Given the description of an element on the screen output the (x, y) to click on. 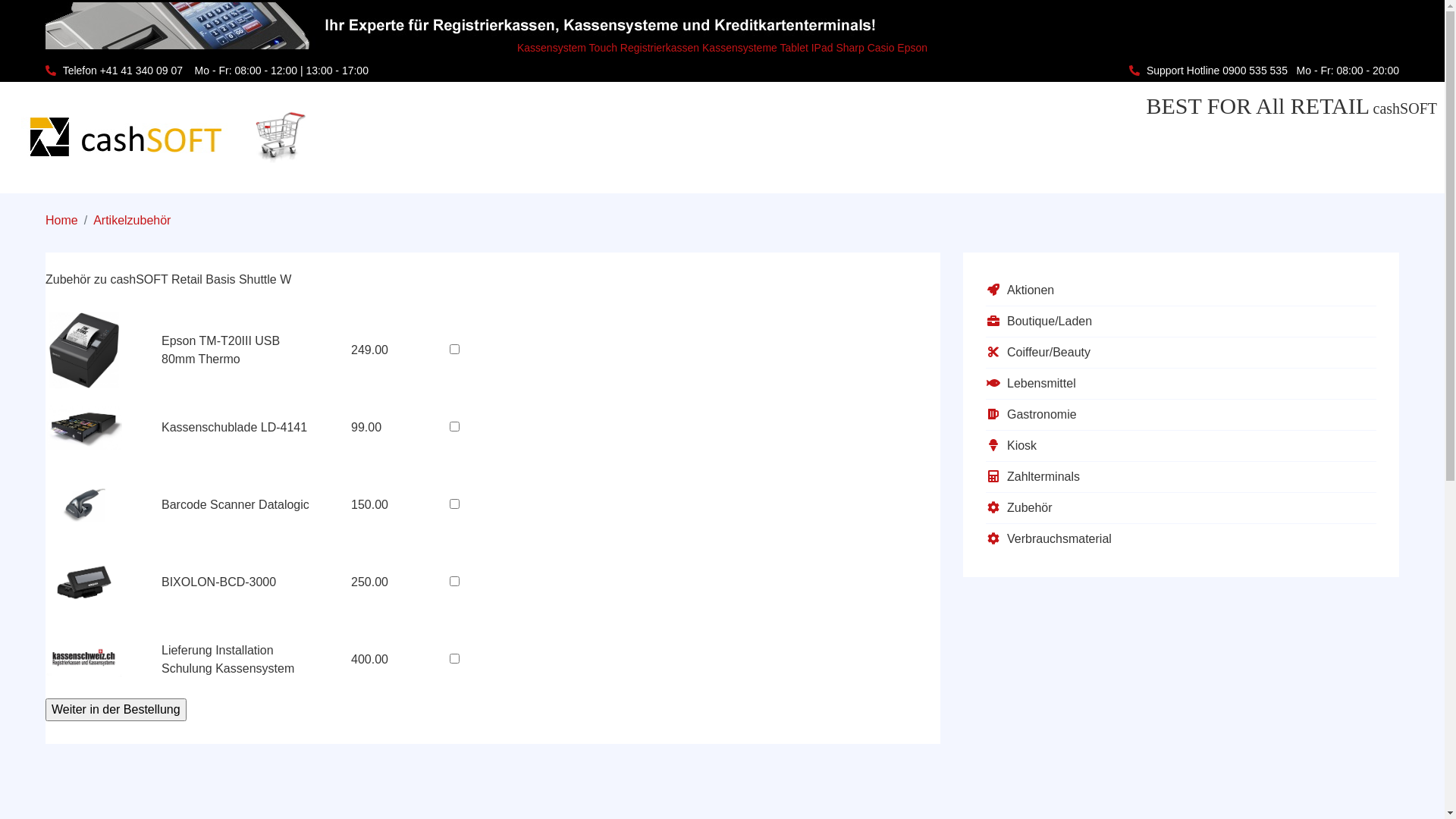
Verbrauchsmaterial Element type: text (1180, 539)
Home Element type: text (61, 219)
Zahlterminals Element type: text (1180, 476)
Lebensmittel Element type: text (1180, 383)
Gastronomie Element type: text (1180, 414)
Support Hotline 0900 535 535 Element type: text (1216, 70)
Aktionen Element type: text (1180, 290)
Weiter in der Bestellung Element type: text (115, 709)
Boutique/Laden Element type: text (1180, 321)
Telefon +41 41 340 09 07 Element type: text (122, 70)
Coiffeur/Beauty Element type: text (1180, 352)
Kiosk Element type: text (1180, 445)
